Given the description of an element on the screen output the (x, y) to click on. 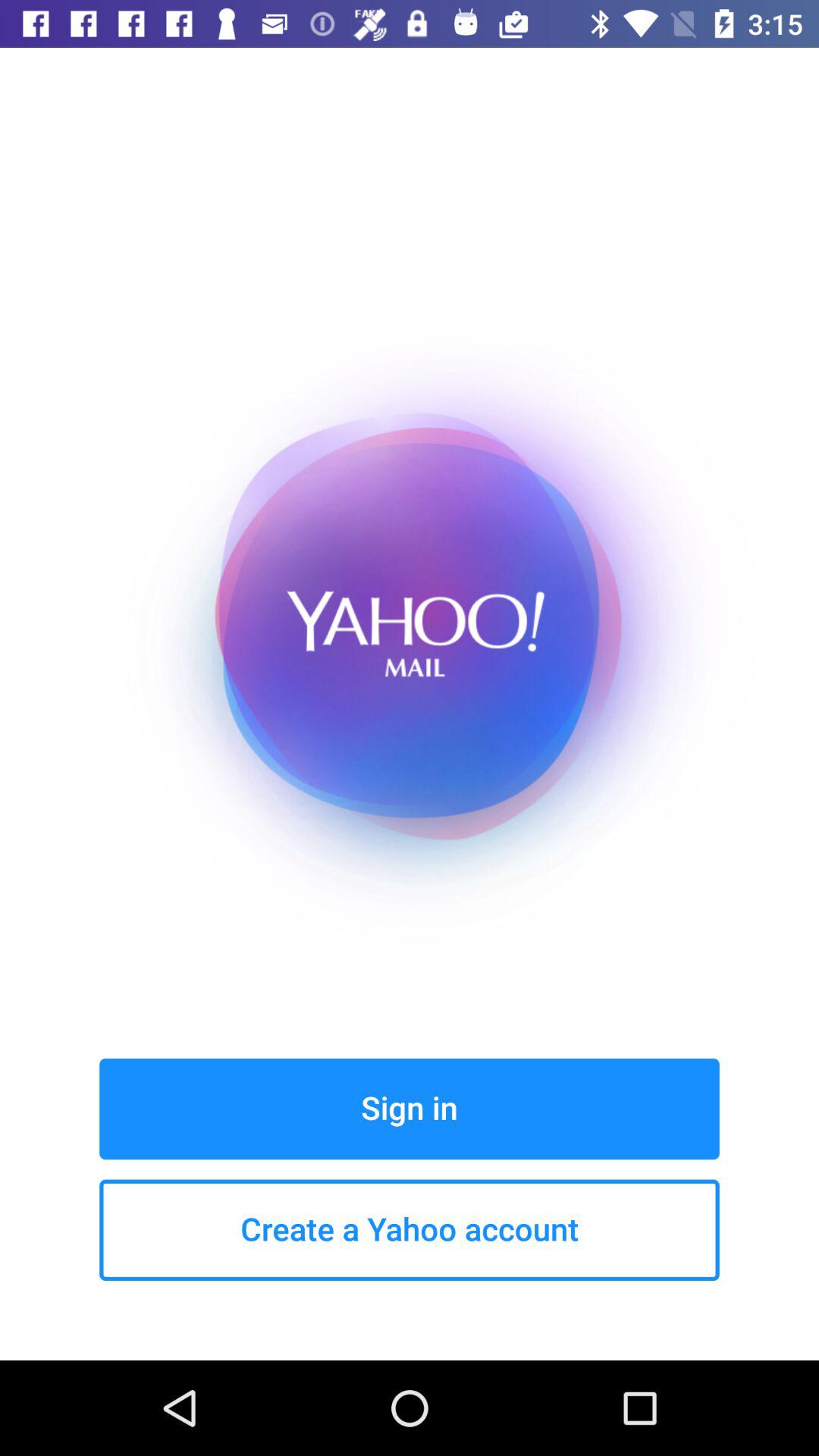
jump to create a yahoo button (409, 1229)
